Given the description of an element on the screen output the (x, y) to click on. 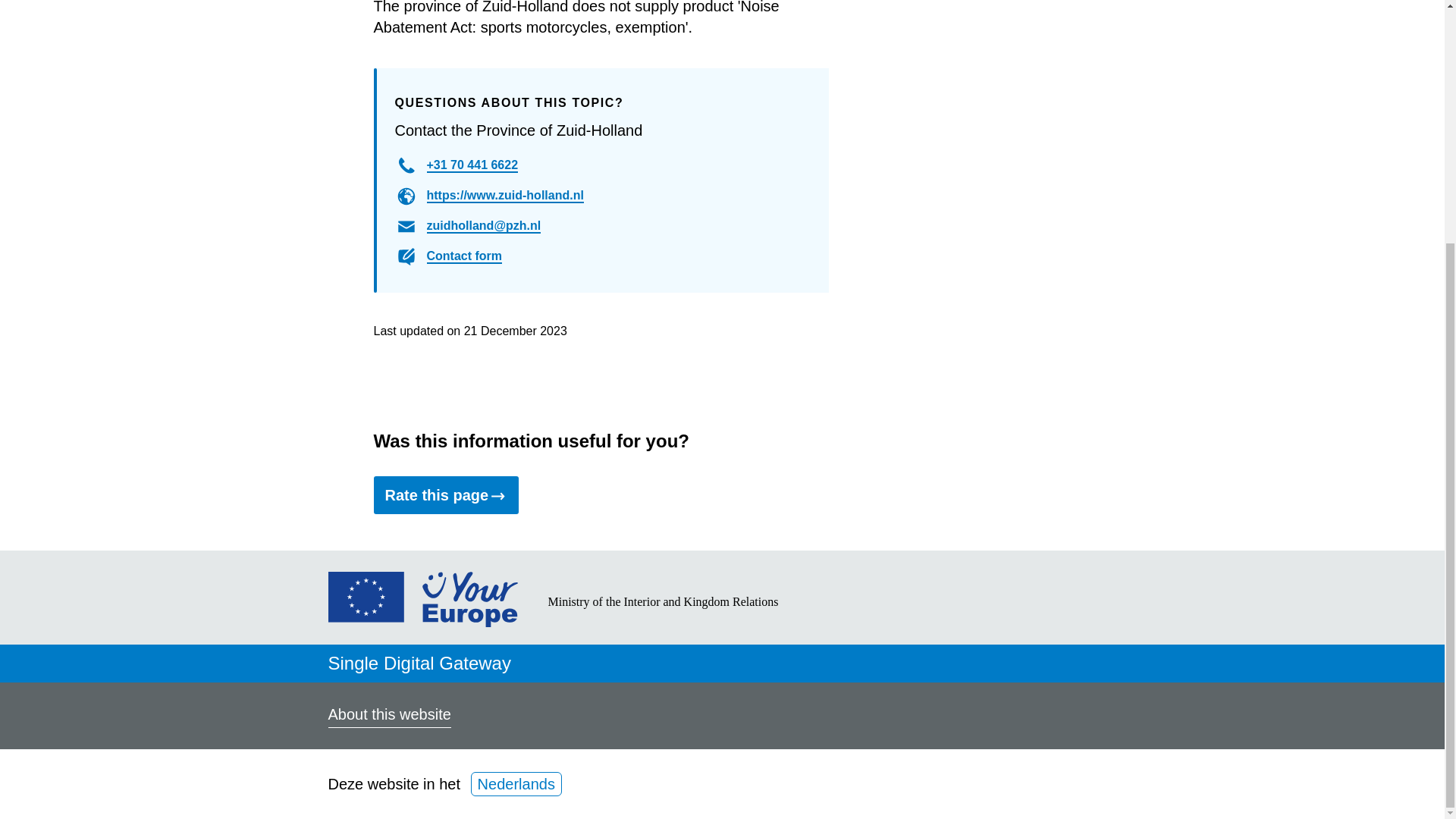
Nederlands (516, 784)
About this website (388, 715)
Rate this page (445, 494)
Go to the European Union's Your Europe portal homepage (421, 621)
Contact form (464, 256)
